Given the description of an element on the screen output the (x, y) to click on. 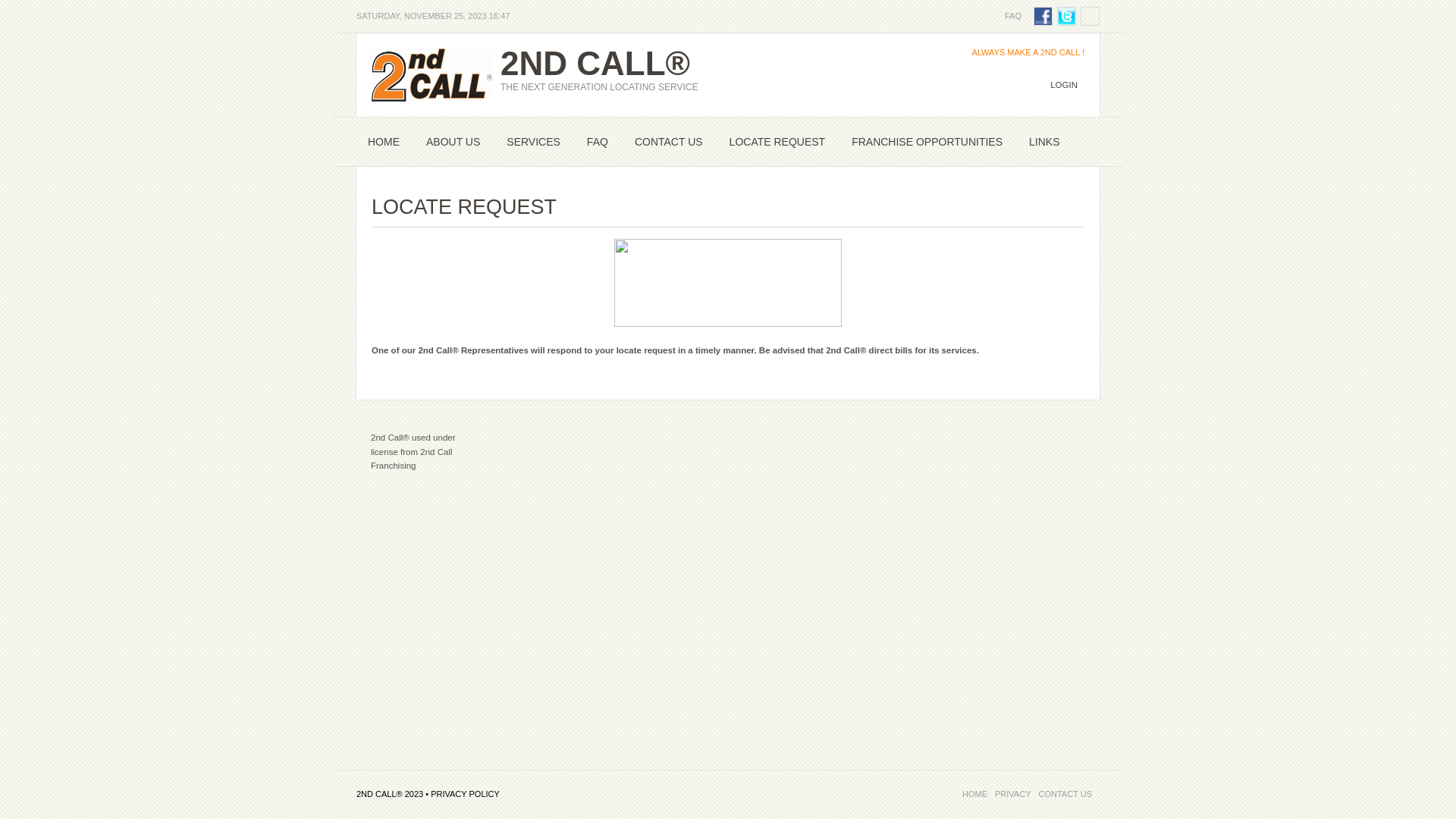
RSS Feed Element type: hover (1089, 15)
LOGIN Element type: text (1063, 84)
FRANCHISE OPPORTUNITIES Element type: text (926, 141)
ABOUT US Element type: text (452, 141)
HOME Element type: text (974, 793)
CONTACT US Element type: text (668, 141)
Twitter Element type: hover (1066, 15)
support_pic1 Element type: hover (727, 282)
FAQ Element type: text (597, 141)
CONTACT US Element type: text (1065, 793)
LINKS Element type: text (1043, 141)
HOME Element type: text (383, 141)
FAQ Element type: text (1012, 15)
Facebook Element type: hover (1042, 15)
PRIVACY Element type: text (1012, 793)
SERVICES Element type: text (533, 141)
LOCATE REQUEST Element type: text (777, 141)
